Given the description of an element on the screen output the (x, y) to click on. 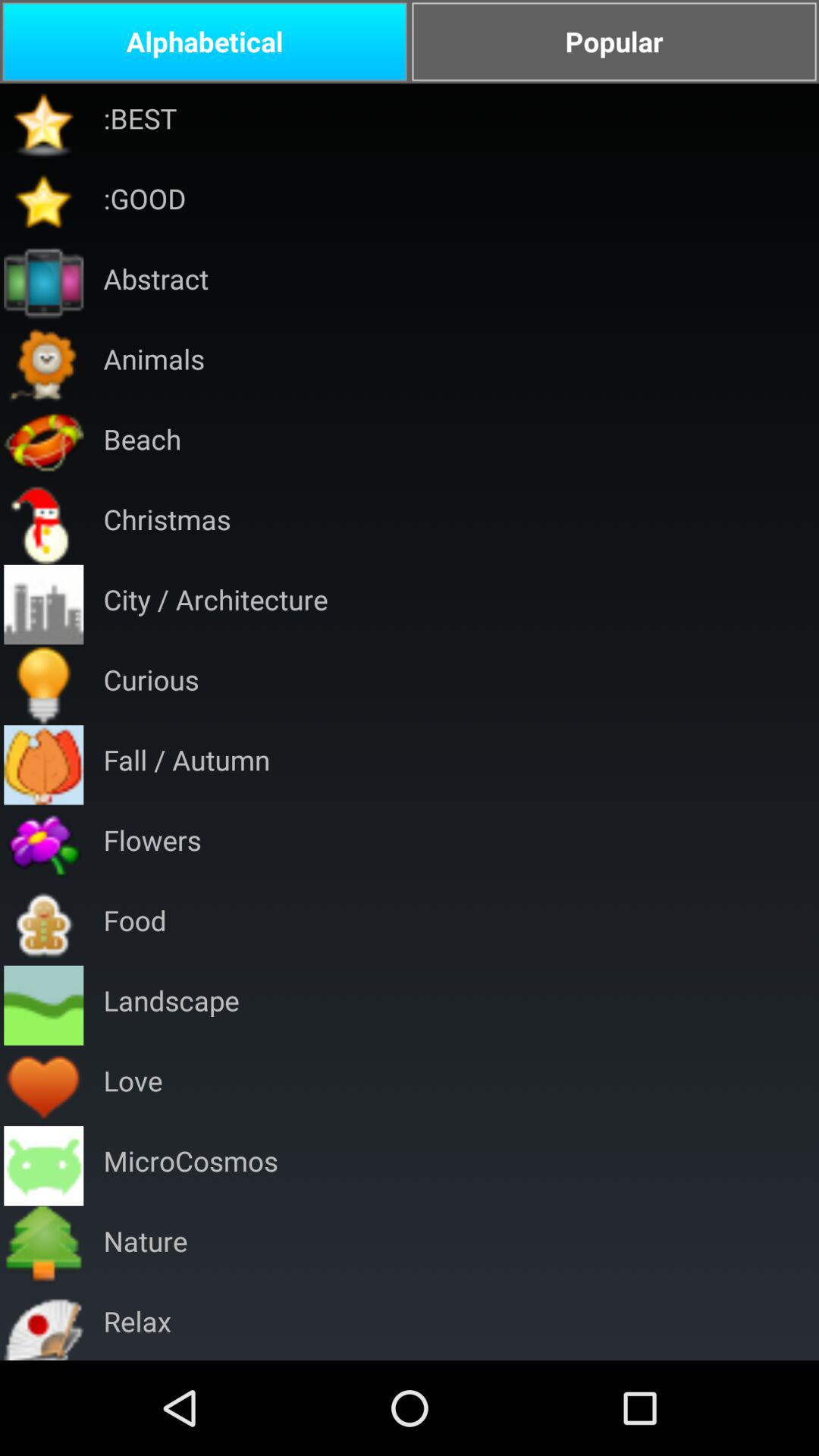
jump to the food app (134, 925)
